Given the description of an element on the screen output the (x, y) to click on. 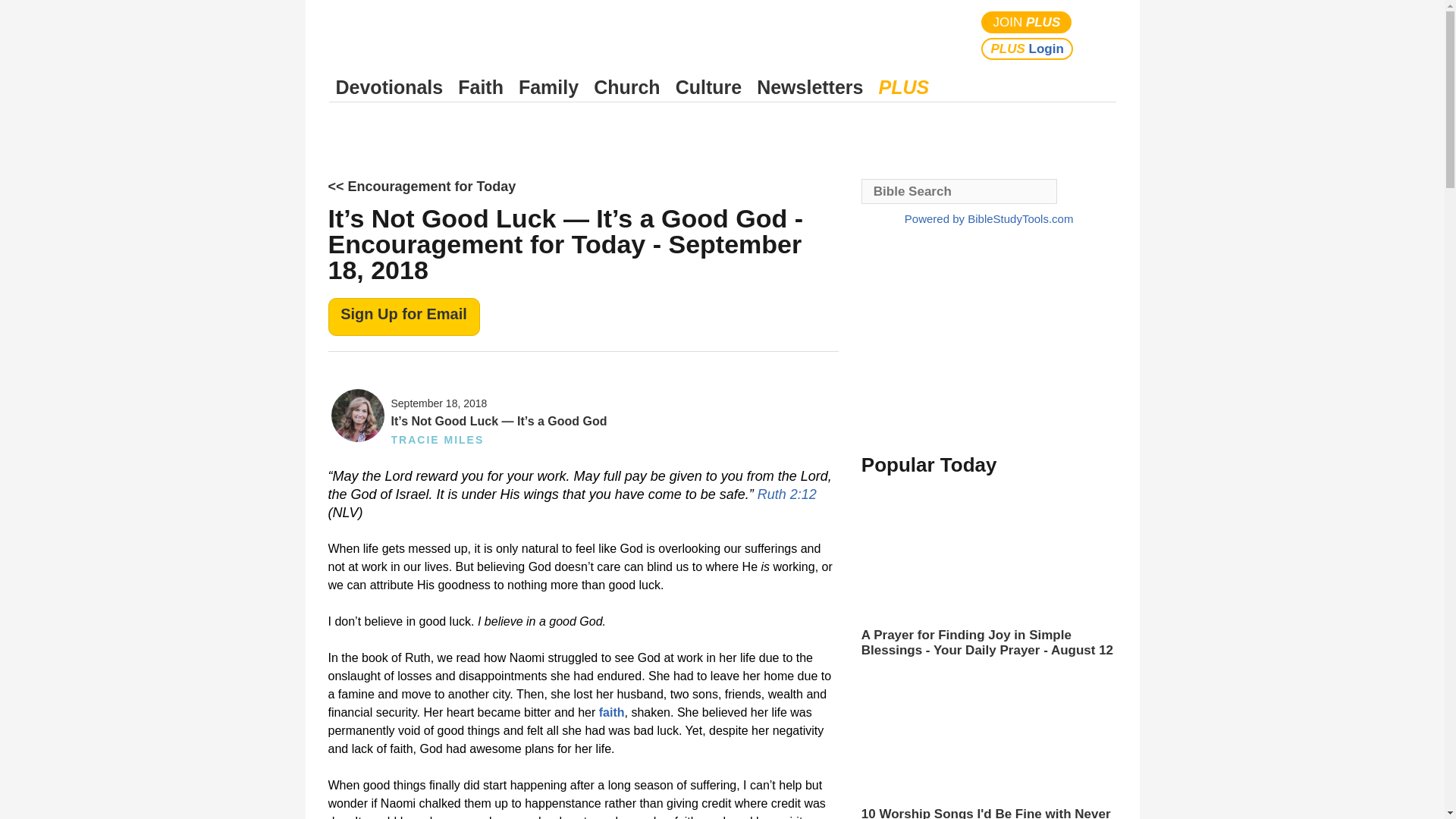
Family (548, 87)
Devotionals (389, 87)
Search (1101, 34)
Plus Login (1026, 48)
PLUS Login (1026, 48)
Faith (481, 87)
JOIN PLUS (1026, 22)
Join Plus (1026, 22)
